Given the description of an element on the screen output the (x, y) to click on. 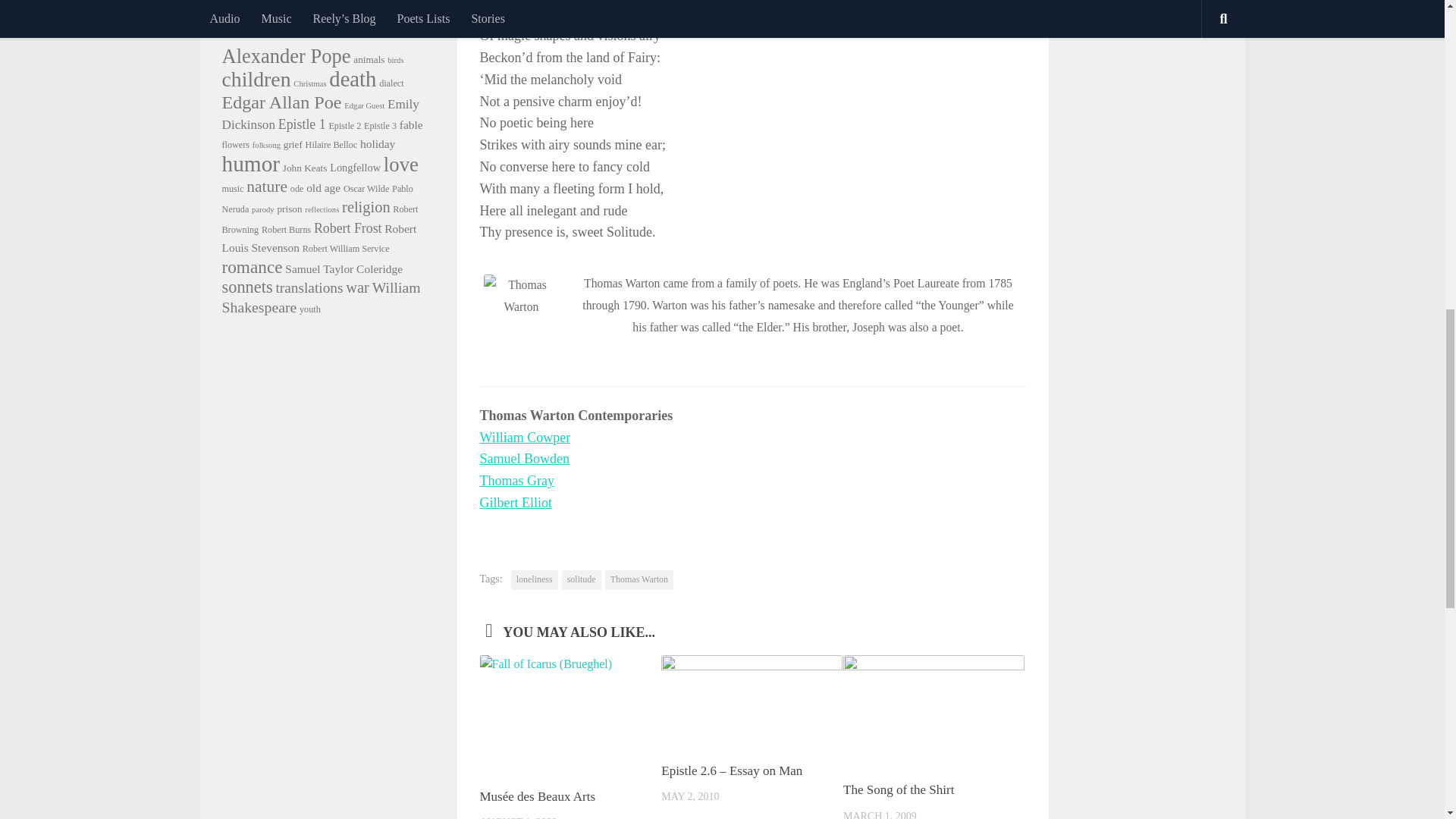
Samuel Bowden (524, 458)
William Cowper (524, 437)
